Given the description of an element on the screen output the (x, y) to click on. 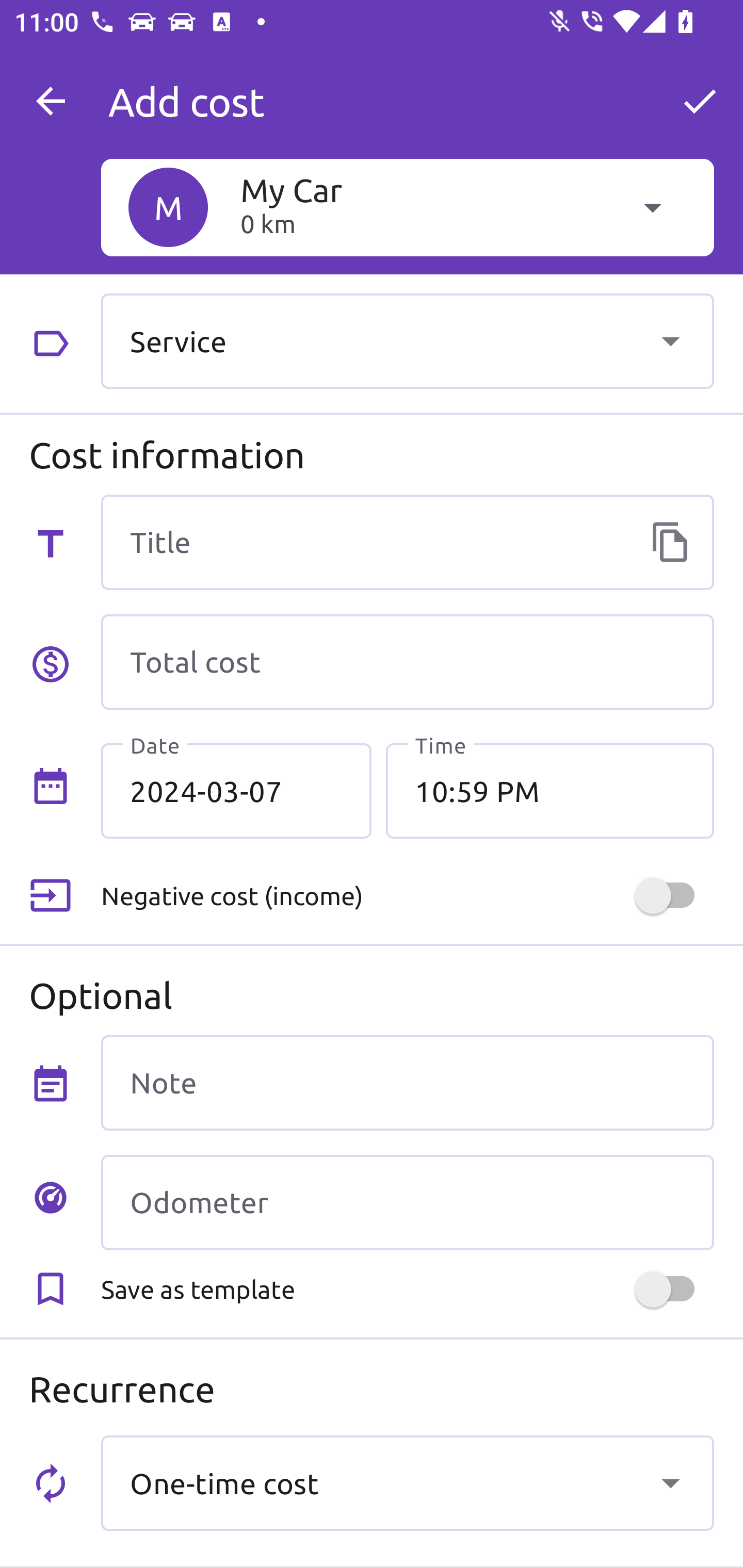
Navigate up (50, 101)
OK (699, 101)
M My Car 0 km (407, 206)
Service (407, 340)
Show dropdown menu (670, 340)
Title (407, 541)
Templates (670, 541)
Total cost  (407, 662)
2024-03-07 (236, 790)
10:59 PM (549, 790)
Negative cost (income) (407, 895)
Note (407, 1082)
Odometer (407, 1202)
Save as template (407, 1289)
One-time cost (407, 1482)
Show dropdown menu (670, 1482)
